Given the description of an element on the screen output the (x, y) to click on. 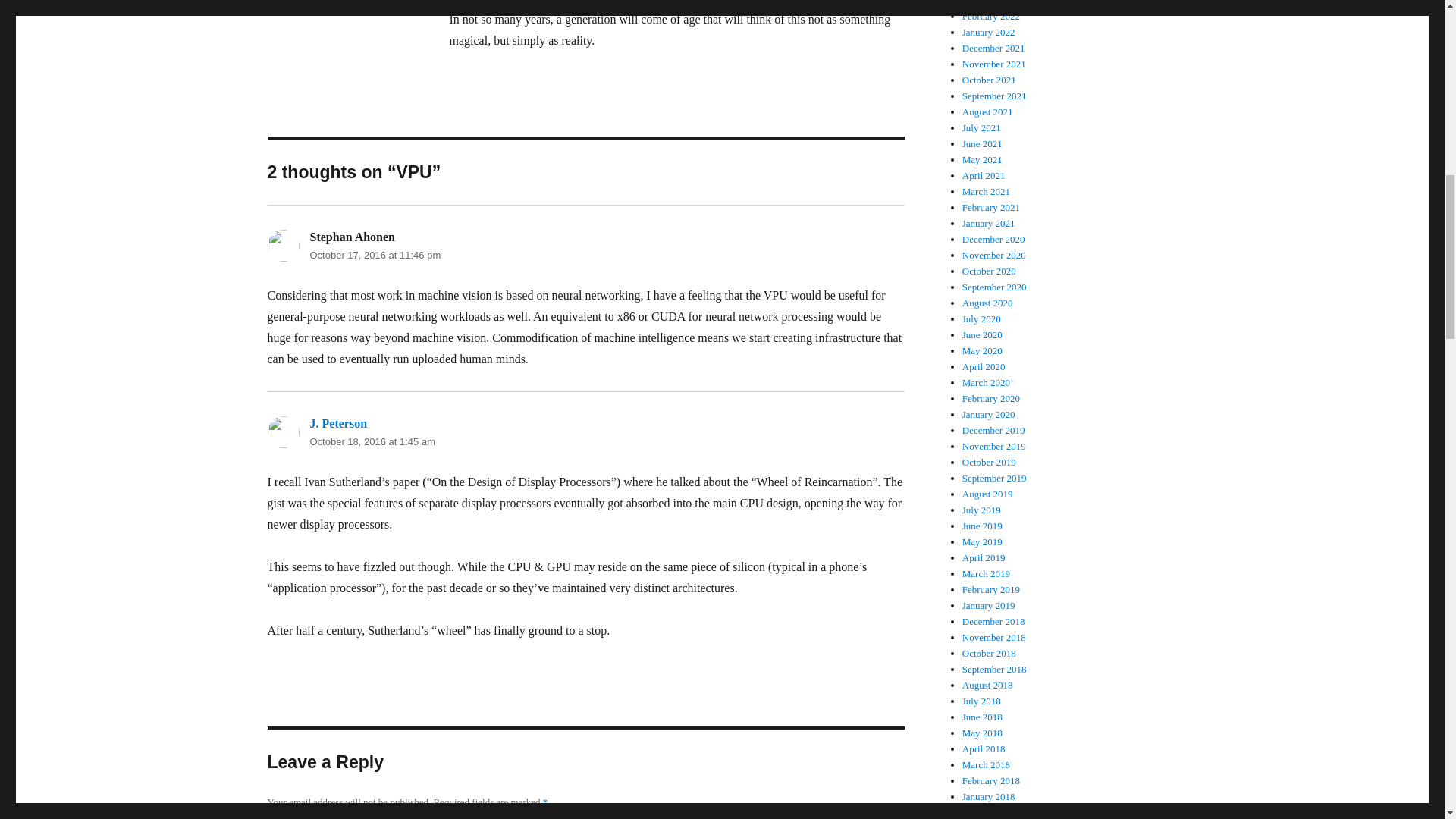
J. Peterson (337, 422)
March 2022 (986, 2)
October 17, 2016 at 11:46 pm (374, 255)
October 18, 2016 at 1:45 am (371, 441)
